Given the description of an element on the screen output the (x, y) to click on. 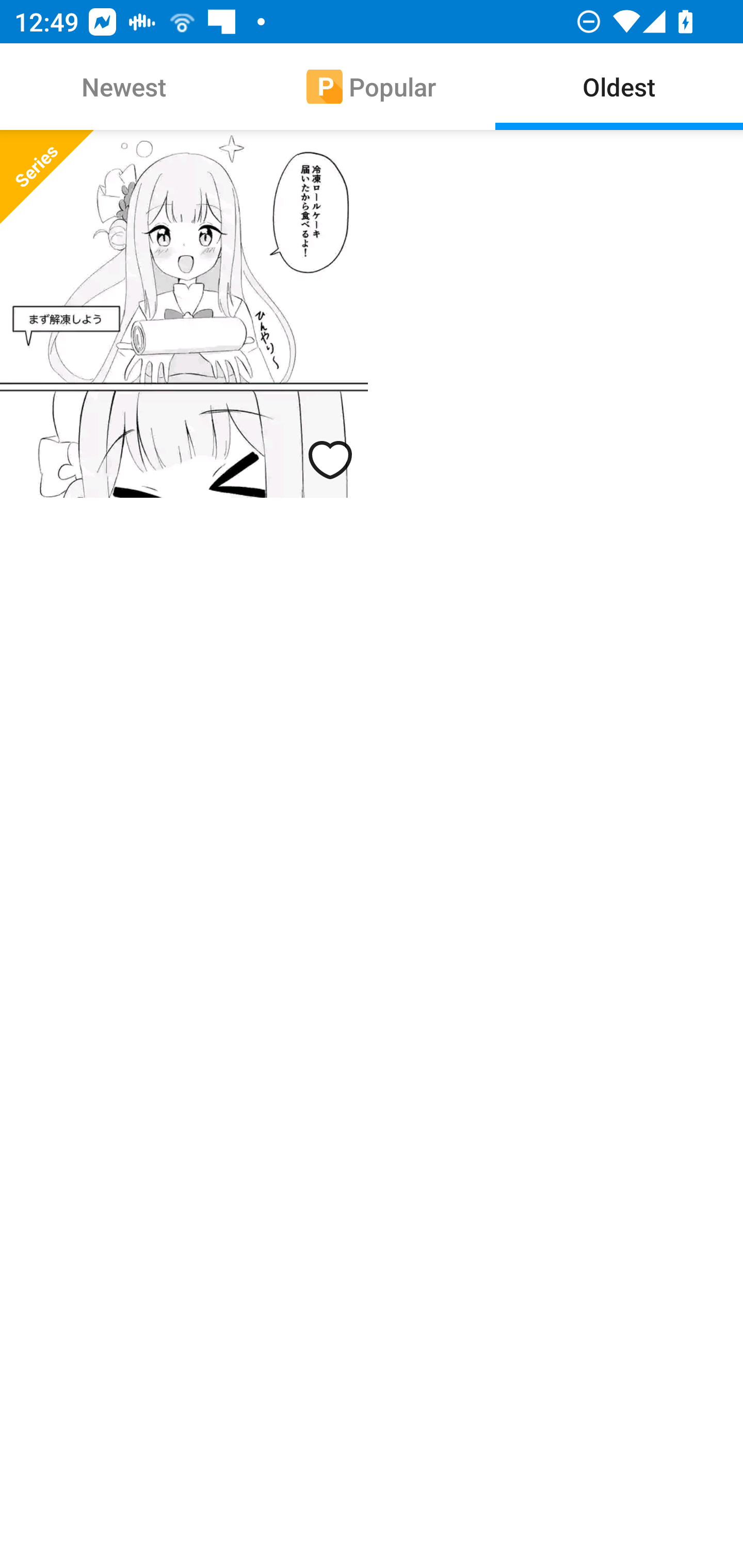
Newest (123, 86)
[P] Popular (371, 86)
Series (183, 313)
Series (46, 177)
